Given the description of an element on the screen output the (x, y) to click on. 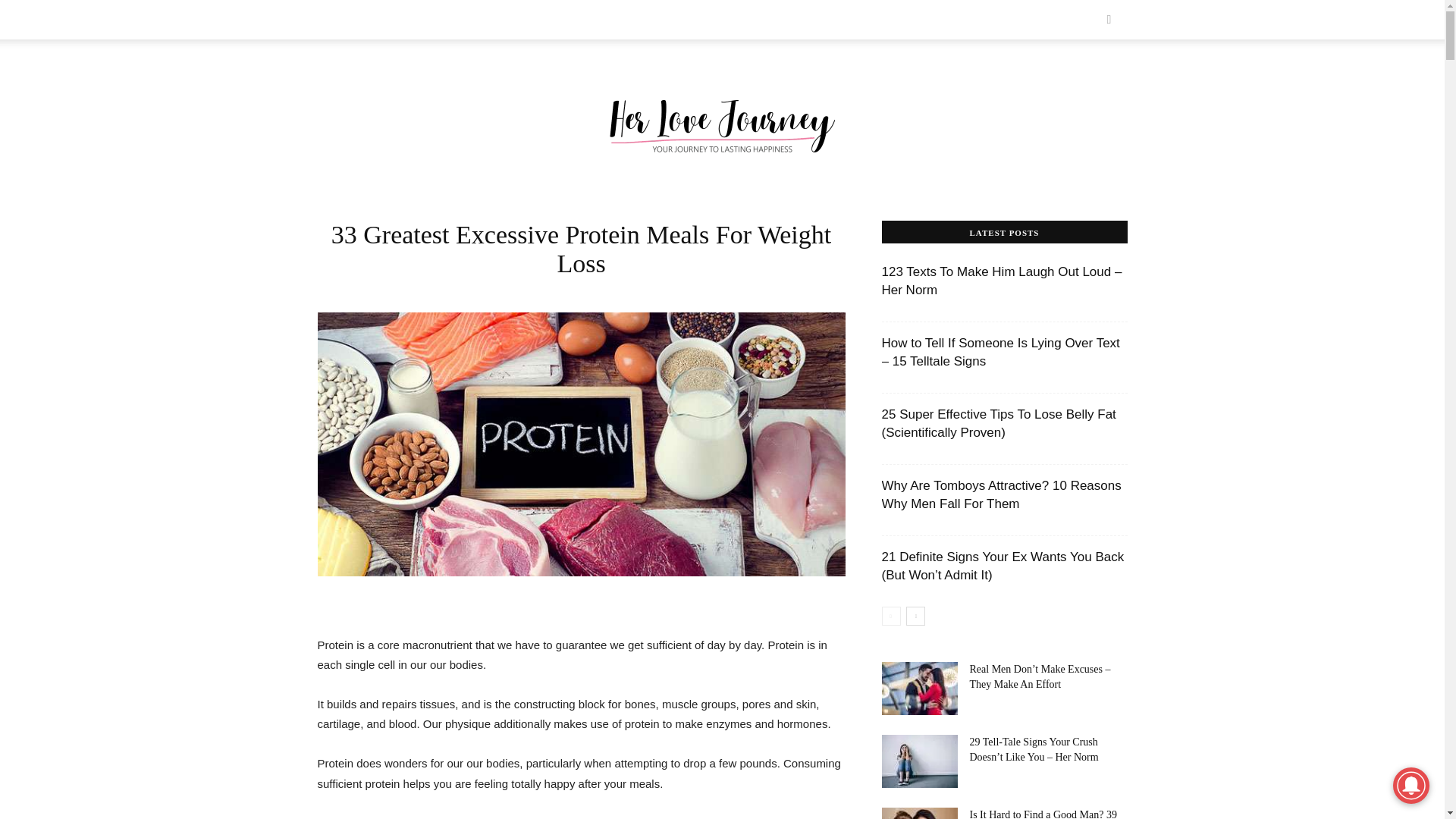
HER LOVE JOURNEY (371, 19)
RELATIONSHIPS (477, 19)
